Given the description of an element on the screen output the (x, y) to click on. 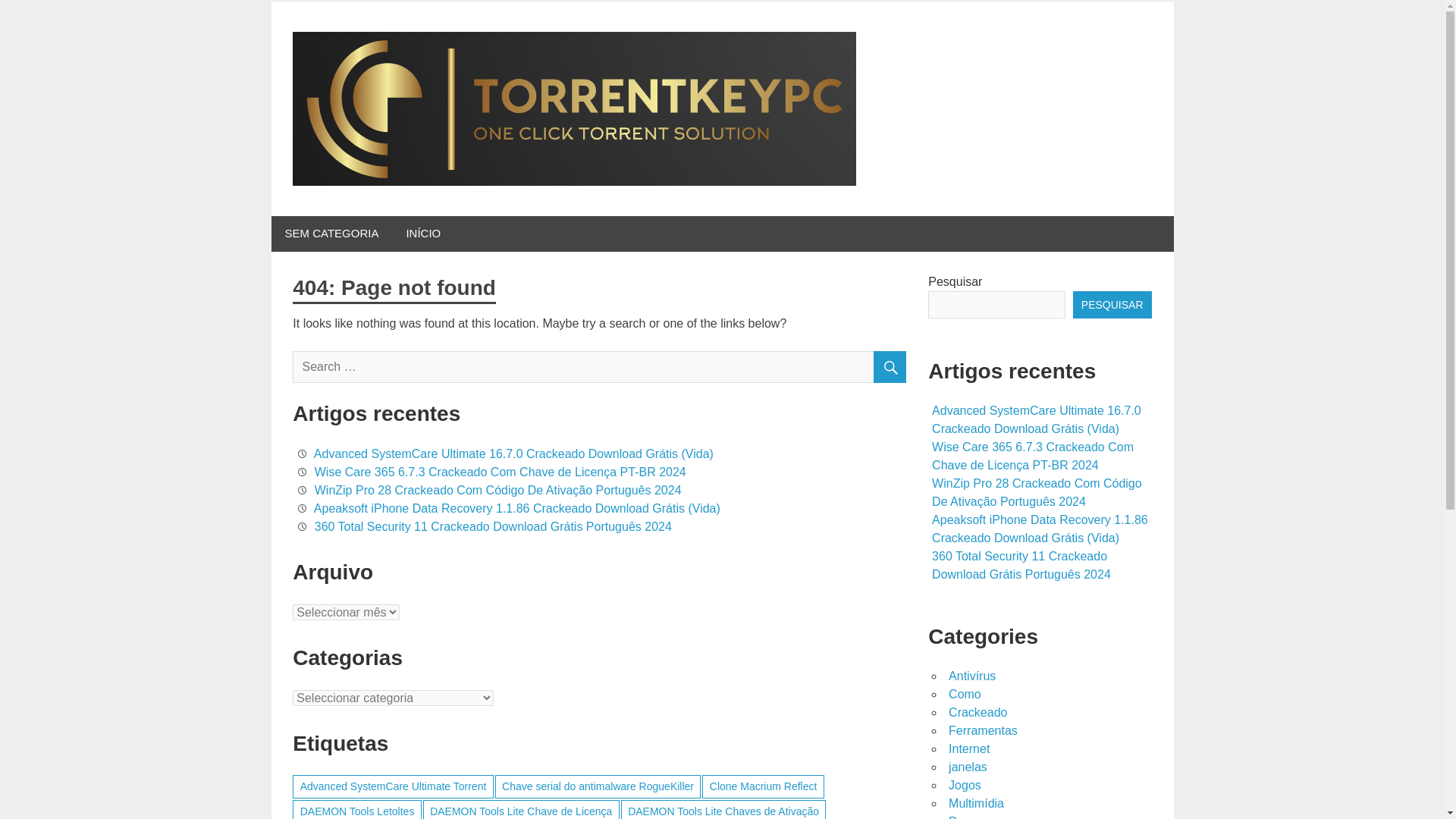
Clone Macrium Reflect (762, 786)
DAEMON Tools Letoltes (356, 809)
Advanced SystemCare Ultimate Torrent (392, 786)
SEM CATEGORIA (331, 233)
Chave serial do antimalware RogueKiller (598, 786)
